Given the description of an element on the screen output the (x, y) to click on. 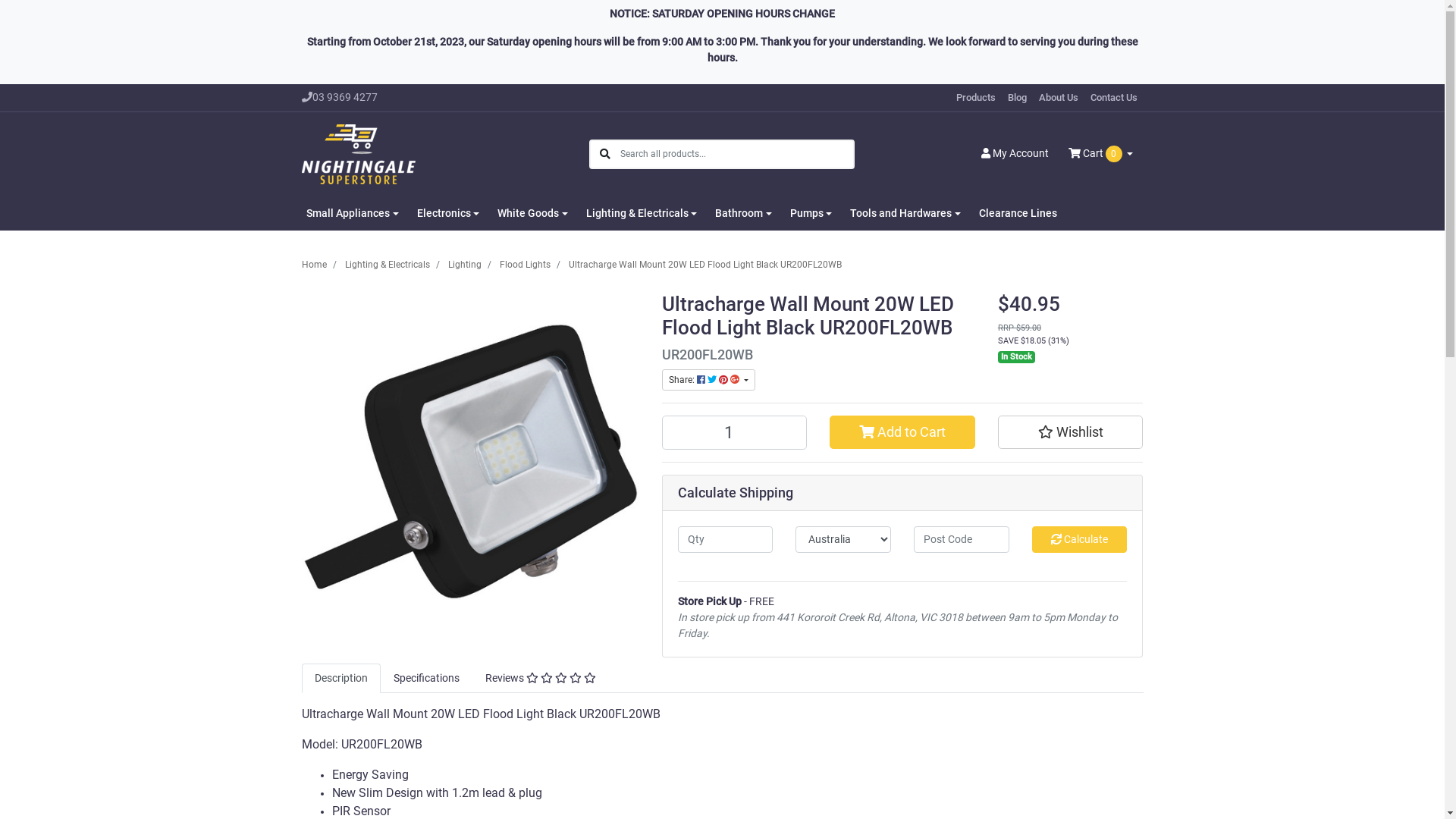
My Account Element type: text (1014, 153)
03 9369 4277 Element type: text (357, 97)
Add to Cart Element type: text (902, 431)
Electronics Element type: text (448, 212)
Contact Us Element type: text (1113, 97)
Bathroom Element type: text (743, 212)
Ultracharge Wall Mount 20W LED Flood Light Black UR200FL20WB Element type: text (704, 264)
Description Element type: text (340, 678)
Small Appliances Element type: text (352, 212)
Products Element type: text (975, 97)
Calculate Element type: text (1079, 539)
Lighting & Electricals Element type: text (386, 264)
Blog Element type: text (1016, 97)
Flood Lights Element type: text (523, 264)
Tools and Hardwares Element type: text (904, 212)
Search Element type: text (604, 154)
Pumps Element type: text (811, 212)
Home Element type: text (313, 264)
Reviews Element type: text (539, 678)
About Us Element type: text (1058, 97)
Specifications Element type: text (426, 678)
Clearance Lines Element type: text (1017, 212)
Lighting & Electricals Element type: text (641, 212)
Nightingale Superstore Element type: hover (358, 153)
Lighting Element type: text (463, 264)
Wishlist Element type: text (1070, 431)
White Goods Element type: text (532, 212)
Share: Element type: text (707, 379)
Cart 0 Element type: text (1100, 153)
